Given the description of an element on the screen output the (x, y) to click on. 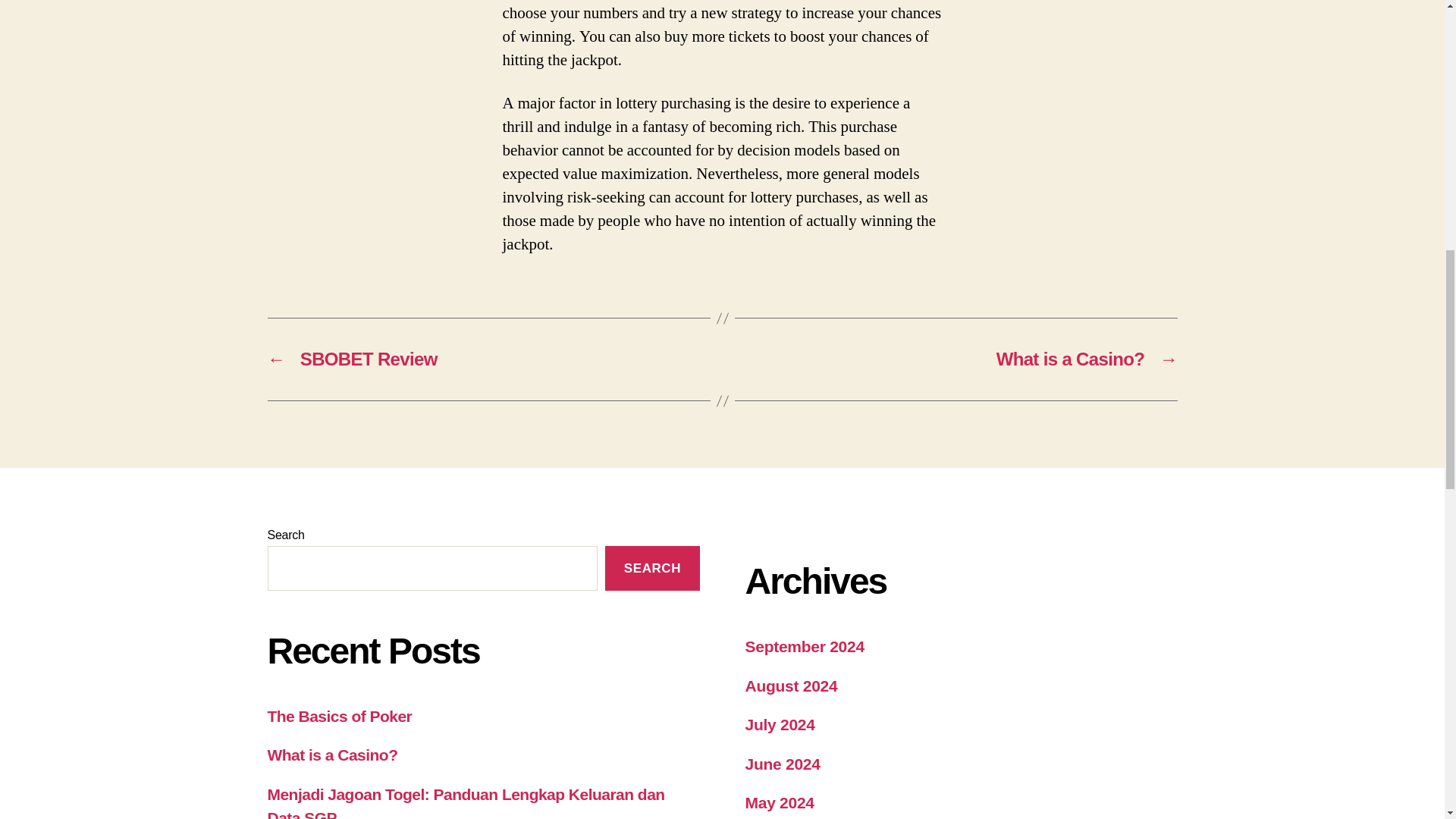
August 2024 (790, 685)
Menjadi Jagoan Togel: Panduan Lengkap Keluaran dan Data SGP (464, 802)
The Basics of Poker (339, 715)
What is a Casino? (331, 754)
September 2024 (803, 646)
July 2024 (778, 724)
June 2024 (781, 764)
May 2024 (778, 802)
SEARCH (651, 568)
